Given the description of an element on the screen output the (x, y) to click on. 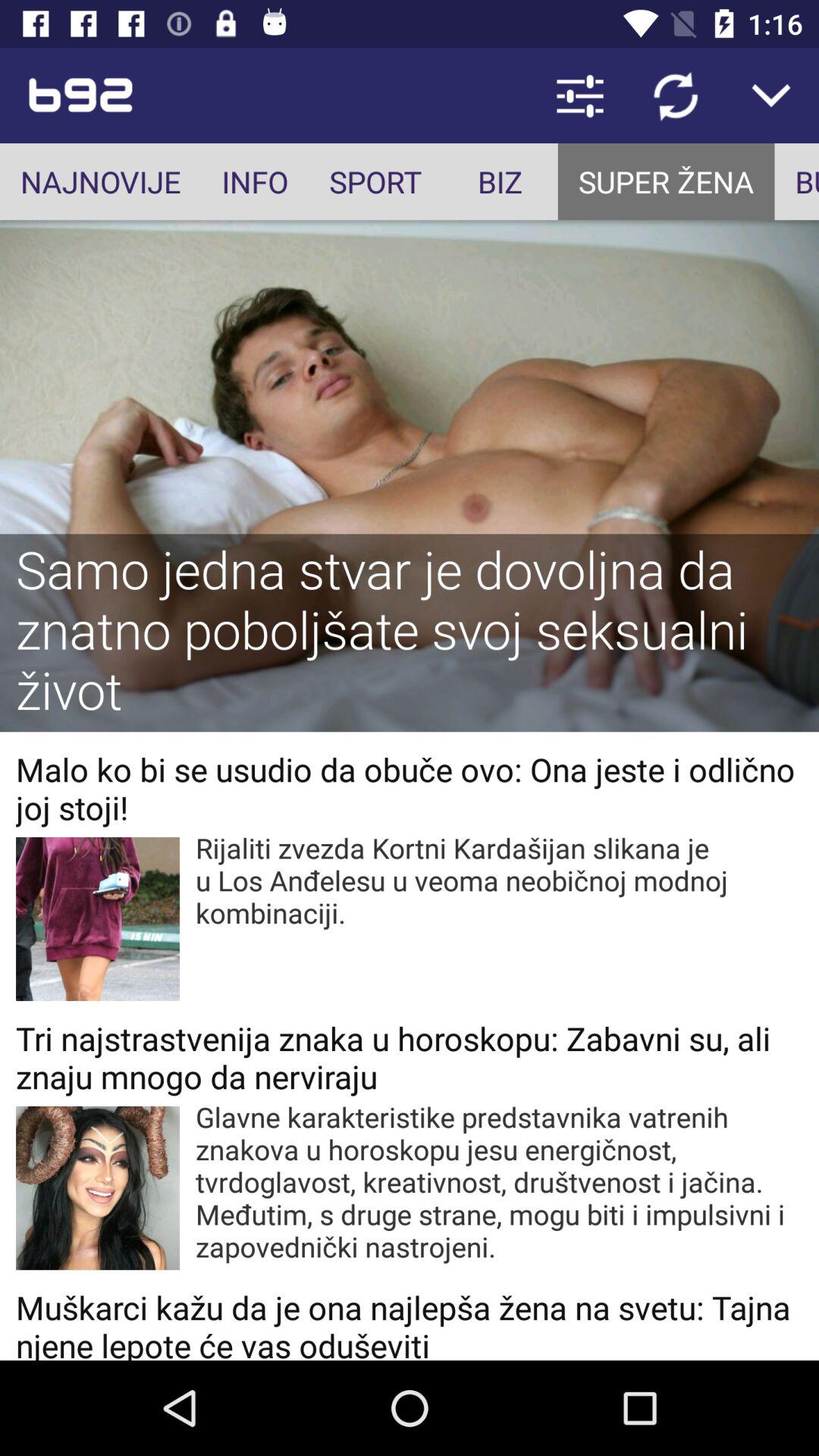
select the app above the najnovije item (162, 95)
